Given the description of an element on the screen output the (x, y) to click on. 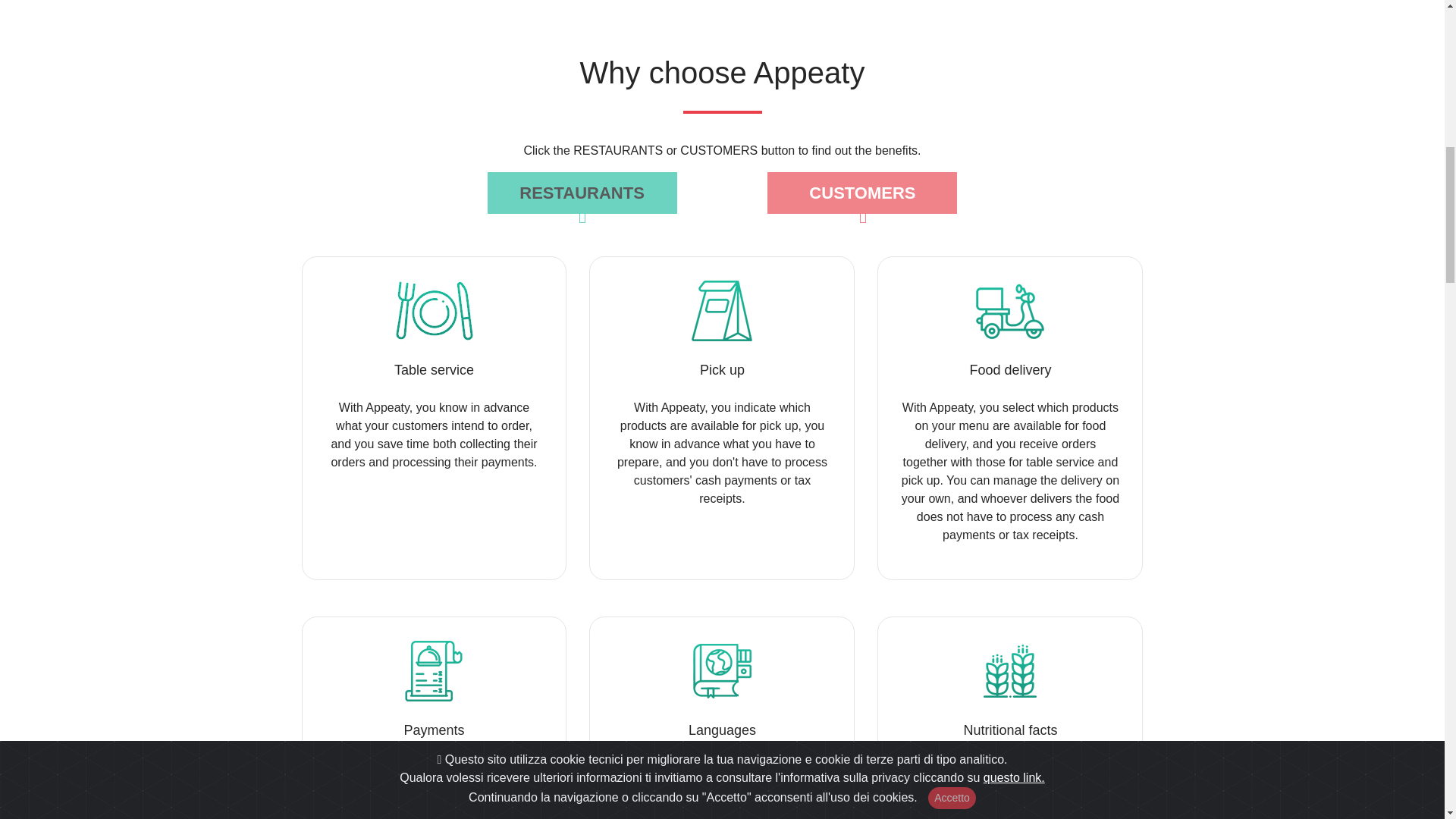
RESTAURANTS (582, 192)
CUSTOMERS (861, 192)
